Given the description of an element on the screen output the (x, y) to click on. 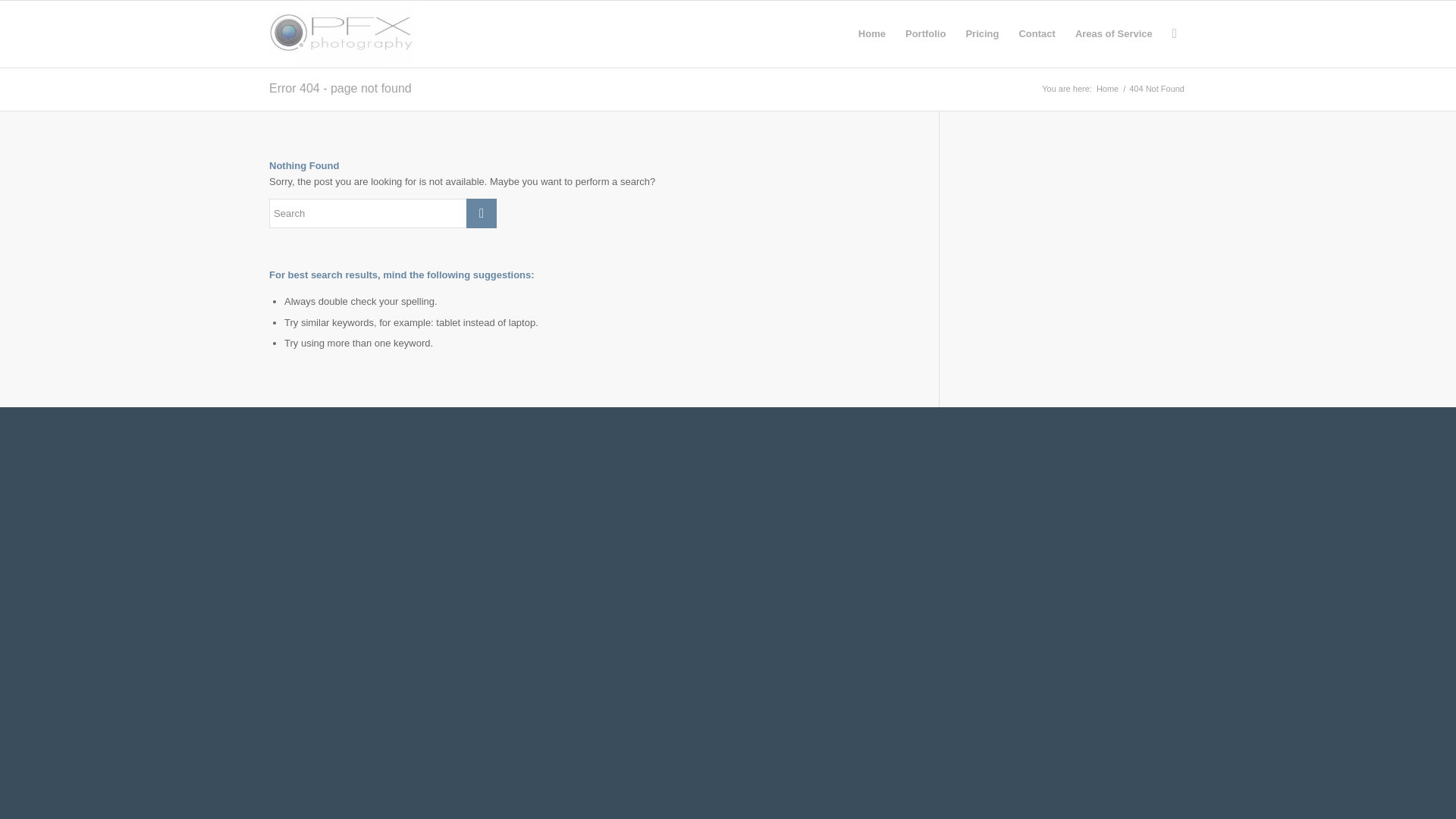
PFX Photo (1107, 89)
Areas of Service (1113, 33)
Home (1107, 89)
Portfolio (925, 33)
